Given the description of an element on the screen output the (x, y) to click on. 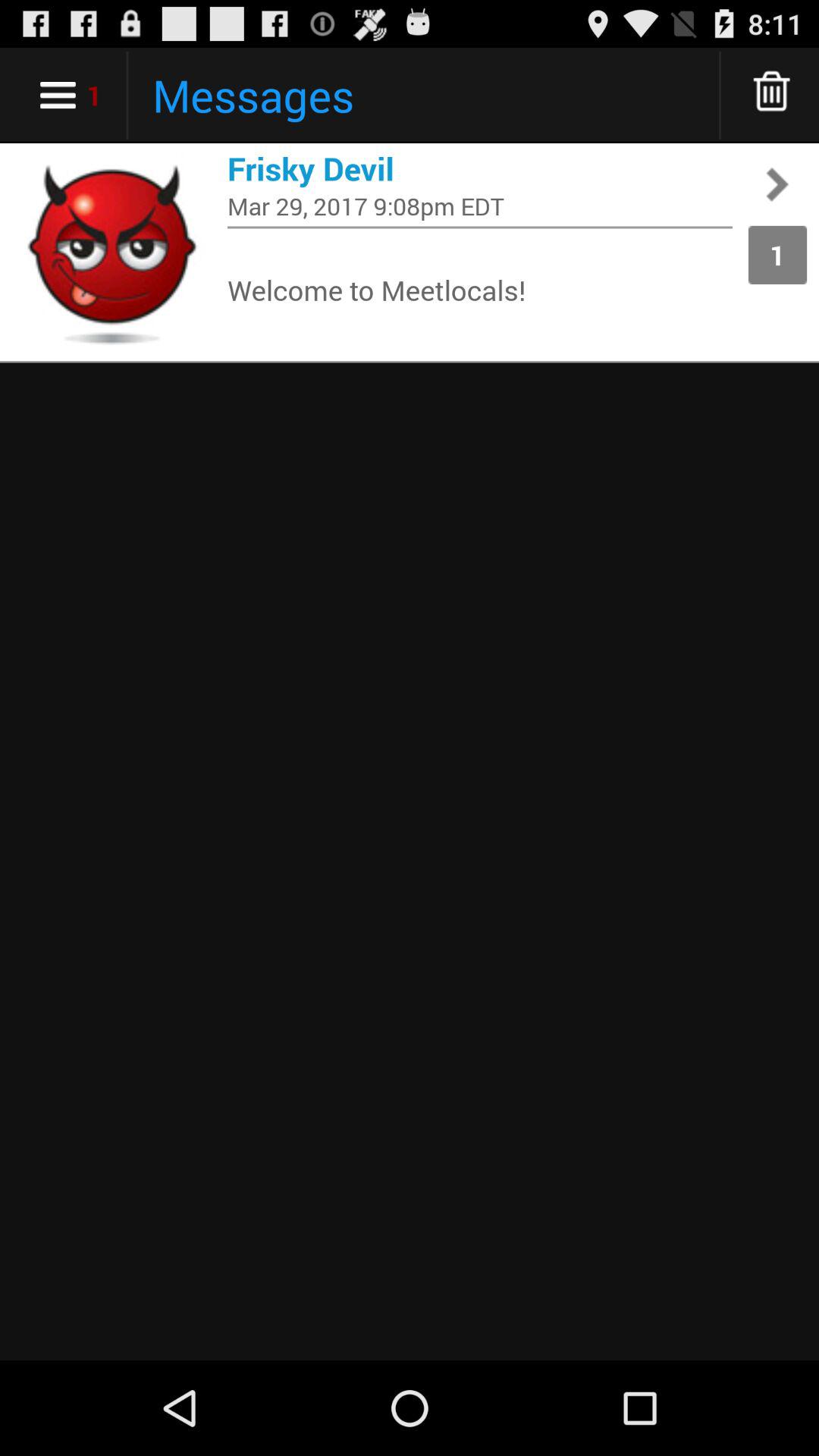
flip until the frisky devil (479, 168)
